Given the description of an element on the screen output the (x, y) to click on. 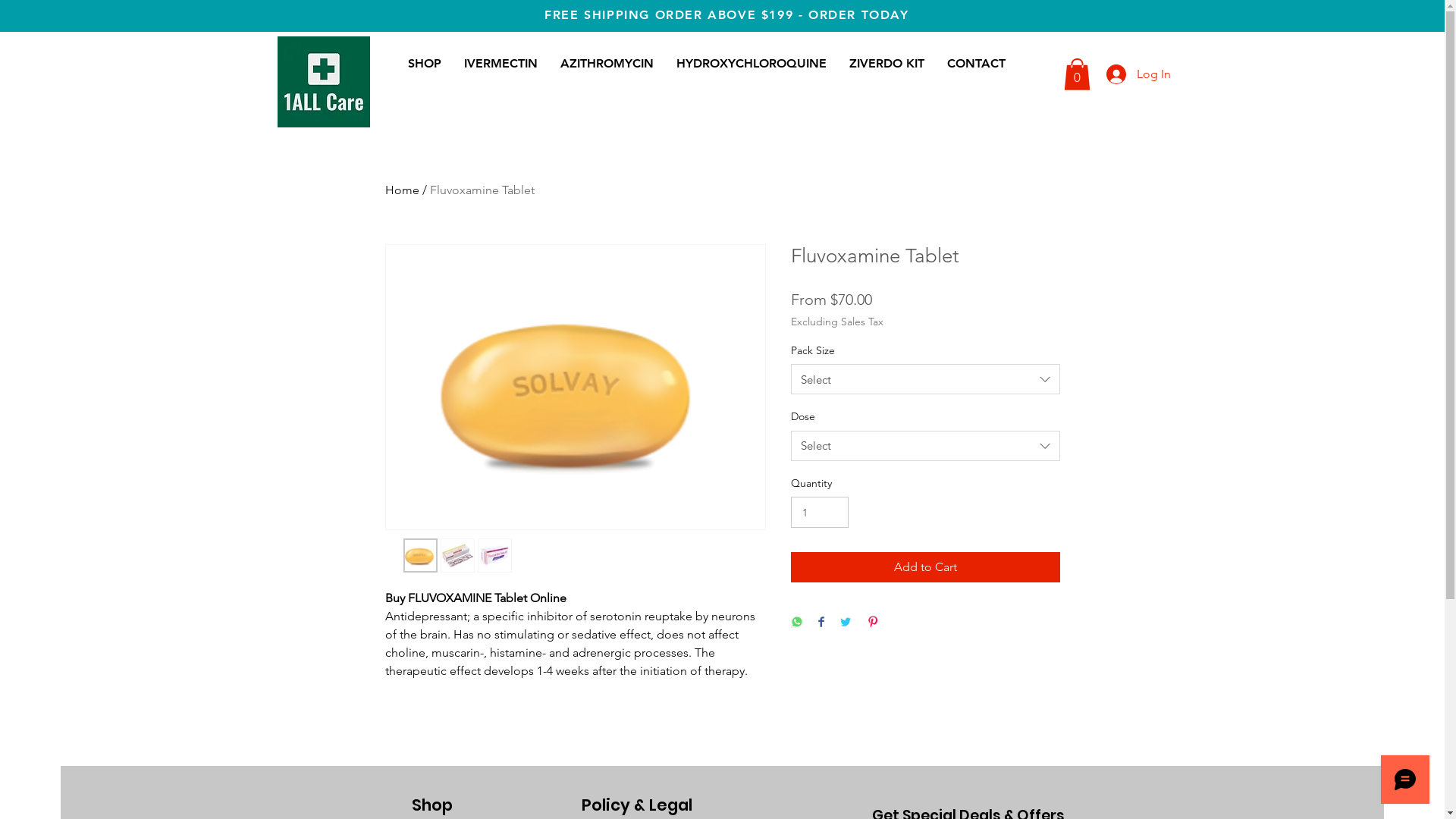
Add to Cart Element type: text (924, 567)
AZITHROMYCIN Element type: text (607, 63)
HYDROXYCHLOROQUINE Element type: text (750, 63)
FREE SHIPPING ORDER ABOVE $199 - ORDER TODAY Element type: text (726, 14)
CONTACT Element type: text (975, 63)
Fluvoxamine Tablet Element type: text (481, 189)
IVERMECTIN Element type: text (499, 63)
0 Element type: text (1076, 74)
Free_Sample_By_Wix.jpeg Element type: hover (323, 81)
Home Element type: text (402, 189)
Select Element type: text (924, 445)
Select Element type: text (924, 379)
ZIVERDO KIT Element type: text (886, 63)
Log In Element type: text (1126, 73)
SHOP Element type: text (423, 63)
